Given the description of an element on the screen output the (x, y) to click on. 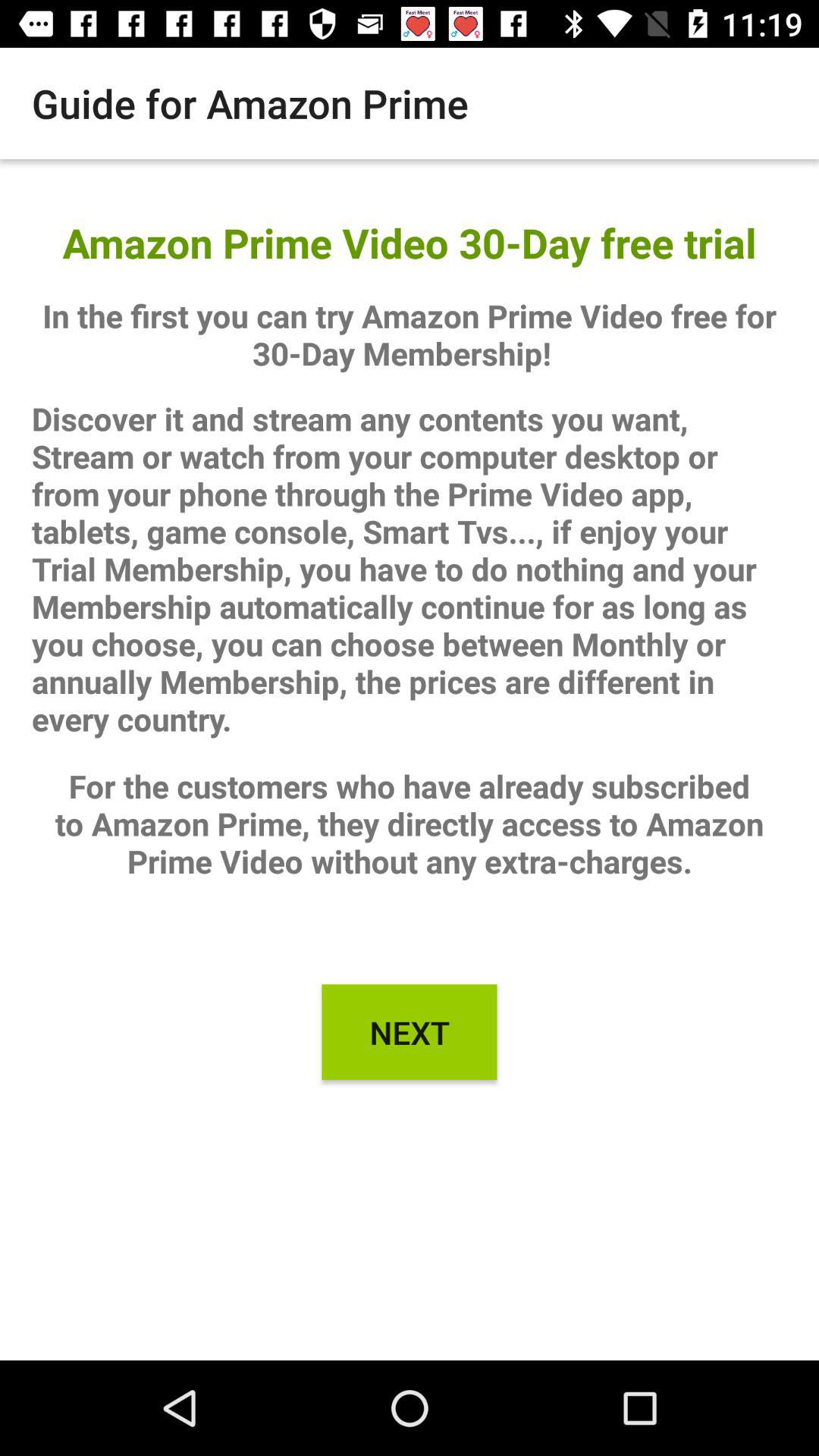
tap the icon below for the customers icon (409, 1032)
